Given the description of an element on the screen output the (x, y) to click on. 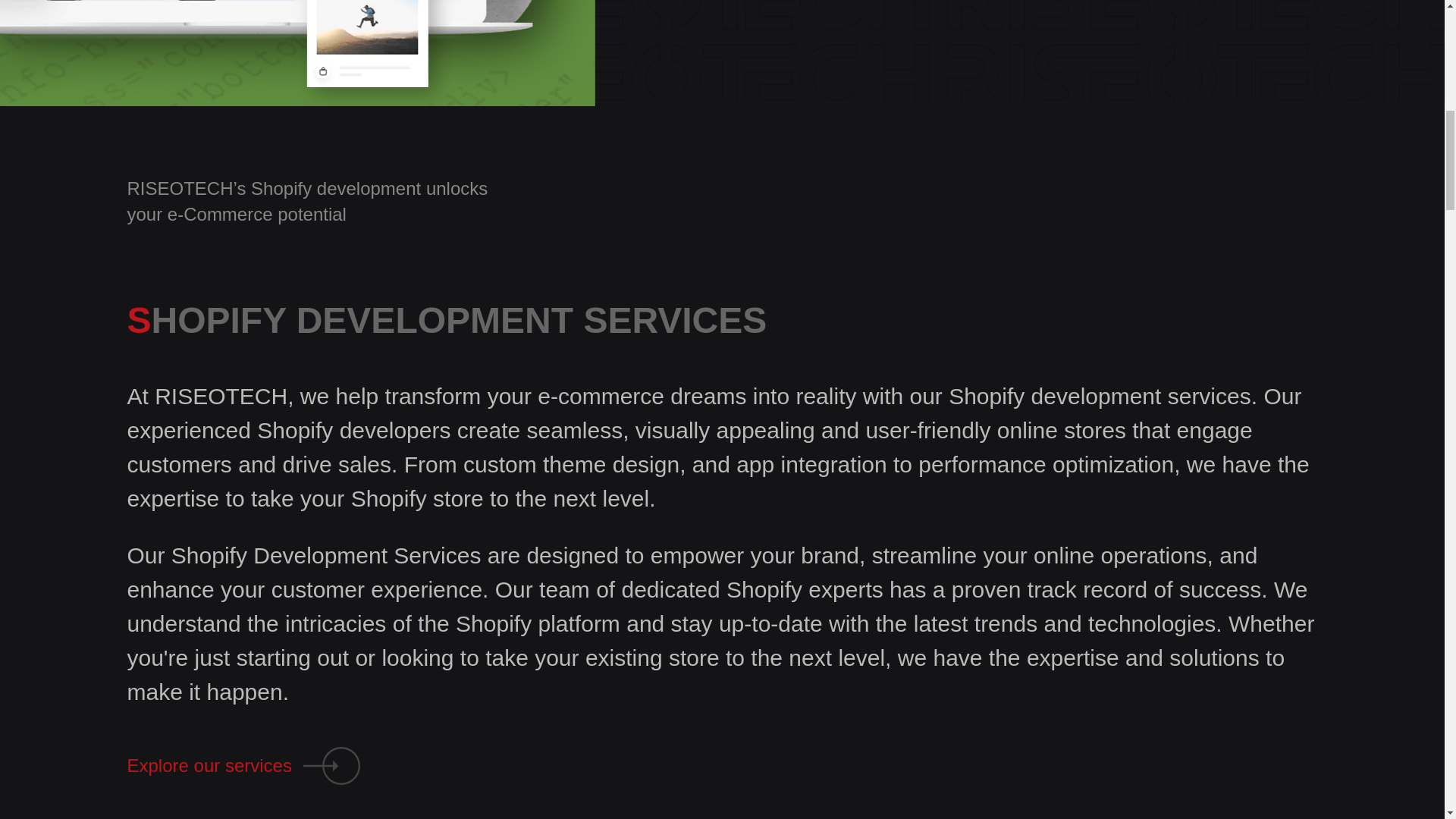
Explore our services (243, 765)
